Given the description of an element on the screen output the (x, y) to click on. 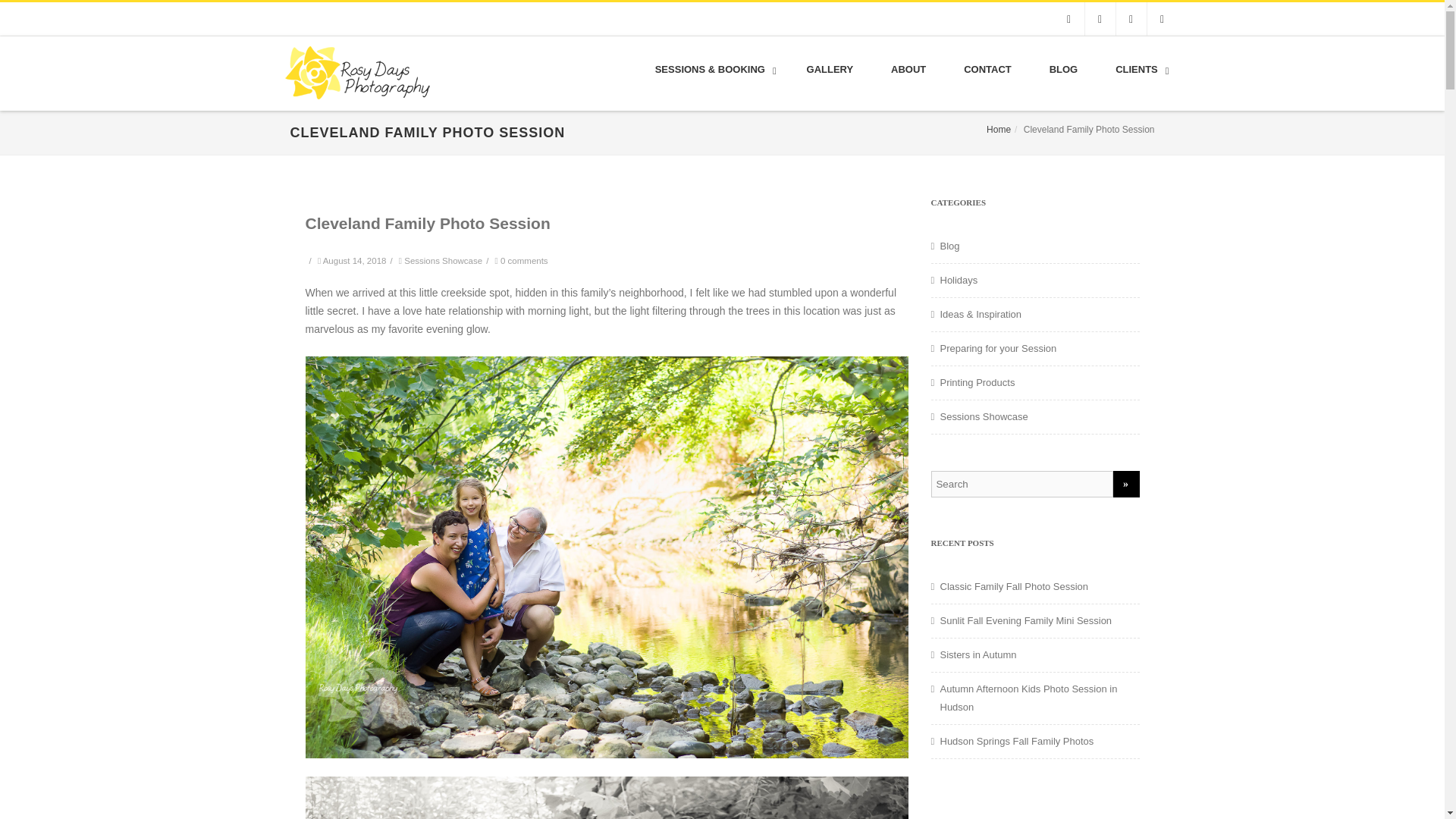
Sessions Showcase (442, 260)
CONTACT (987, 69)
Home (998, 129)
Search for: (1022, 483)
ABOUT (908, 69)
CLIENTS (1137, 69)
GALLERY (829, 69)
BLOG (1063, 69)
Rosy Days Photography (353, 105)
